Given the description of an element on the screen output the (x, y) to click on. 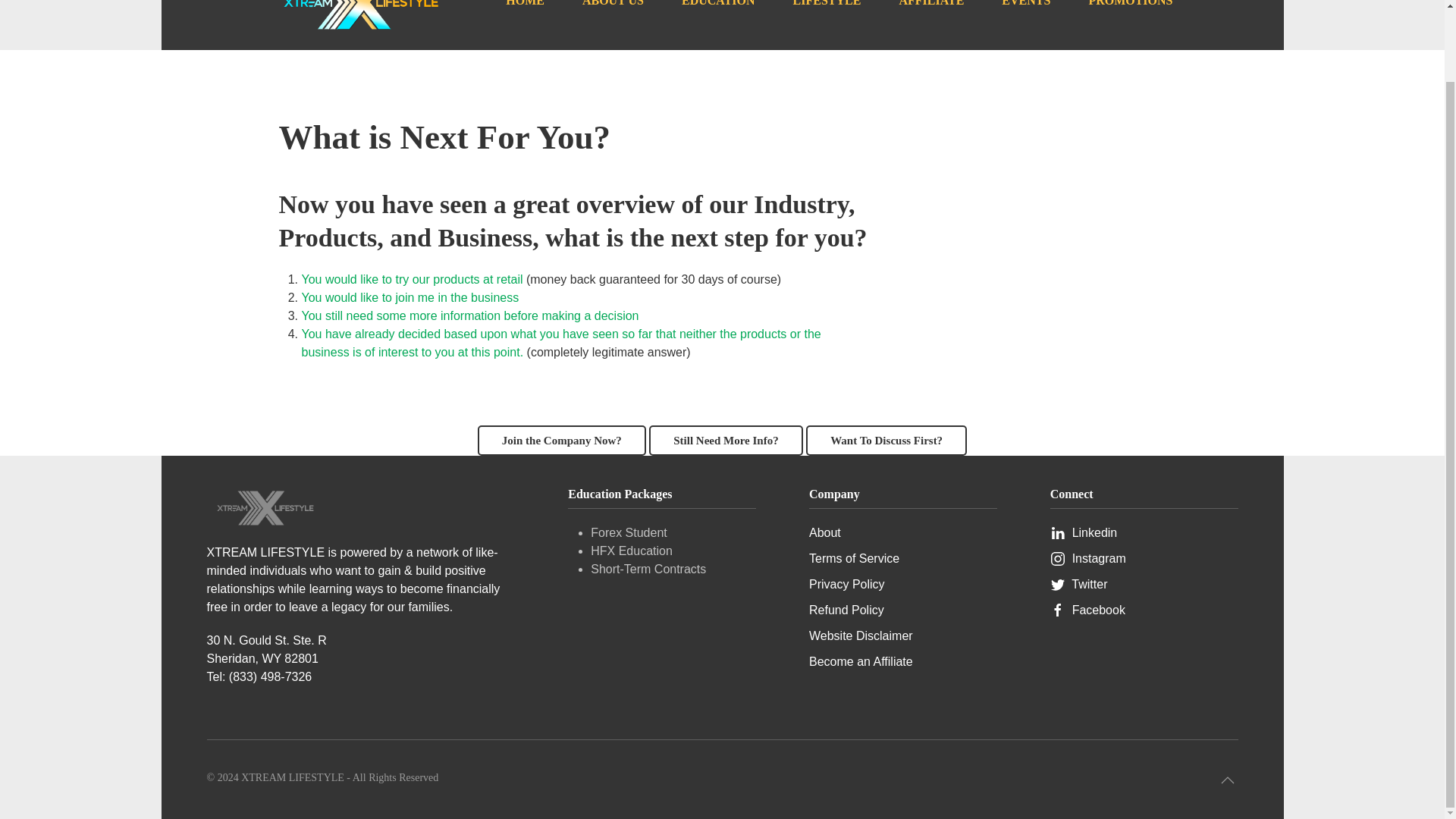
PROMOTIONS (1129, 15)
EDUCATION (718, 15)
HOME (524, 15)
AFFILIATE (930, 15)
Back to Top (1228, 780)
EVENTS (1025, 15)
ABOUT US (612, 15)
LIFESTYLE (827, 15)
